Given the description of an element on the screen output the (x, y) to click on. 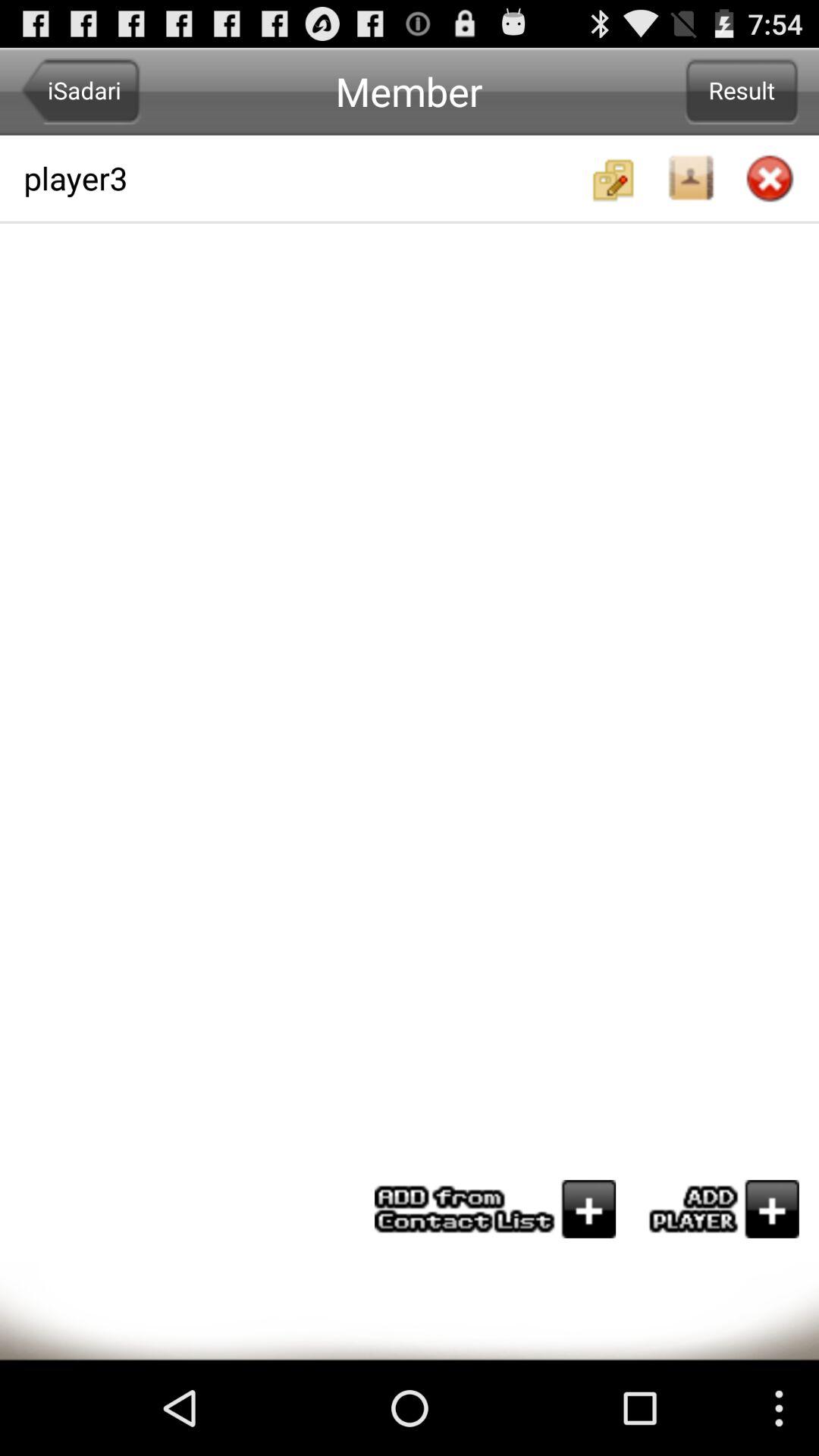
launch player3 icon (304, 178)
